Given the description of an element on the screen output the (x, y) to click on. 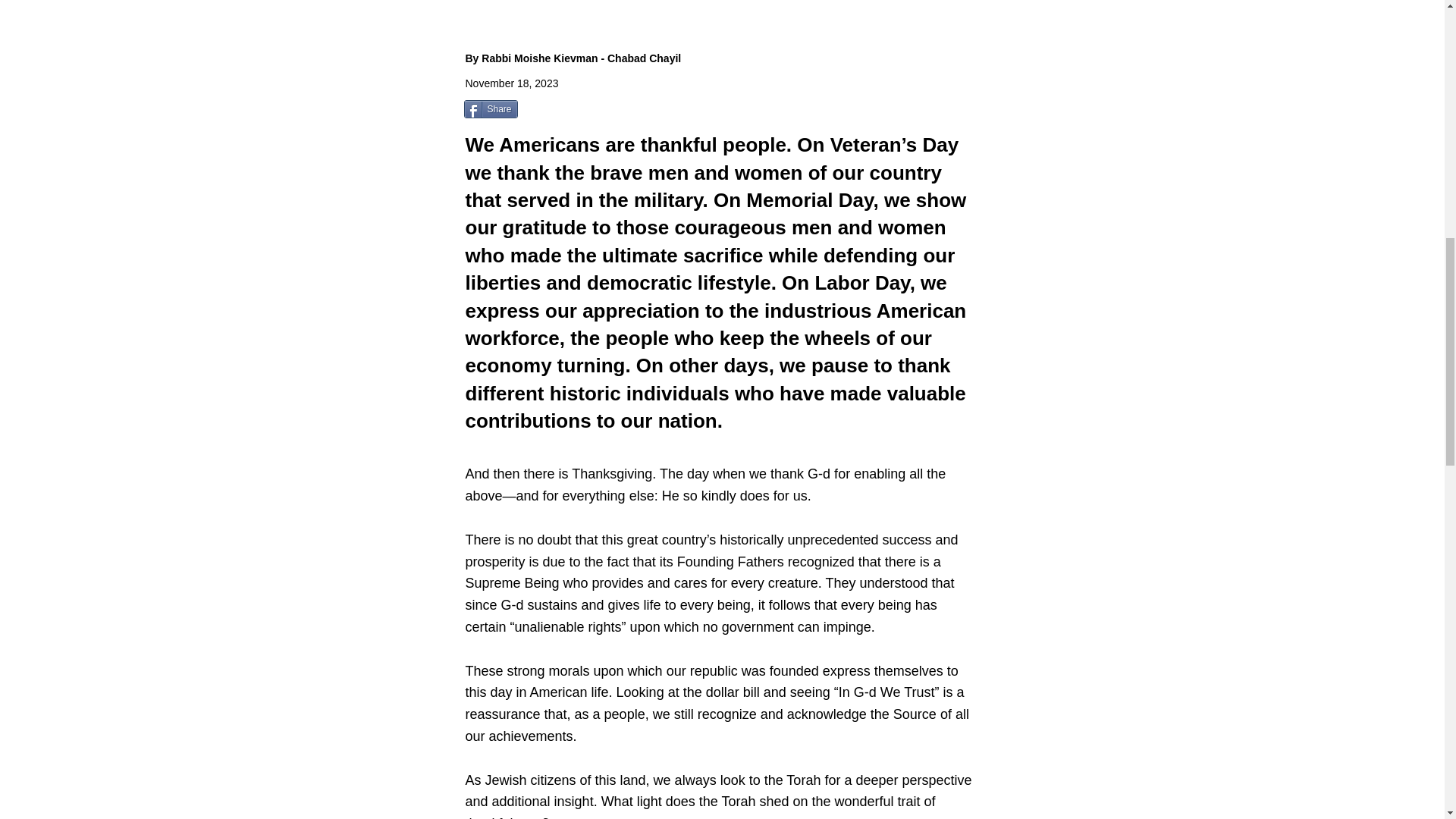
Twitter Tweet (557, 110)
Share (491, 108)
Share (491, 108)
